Given the description of an element on the screen output the (x, y) to click on. 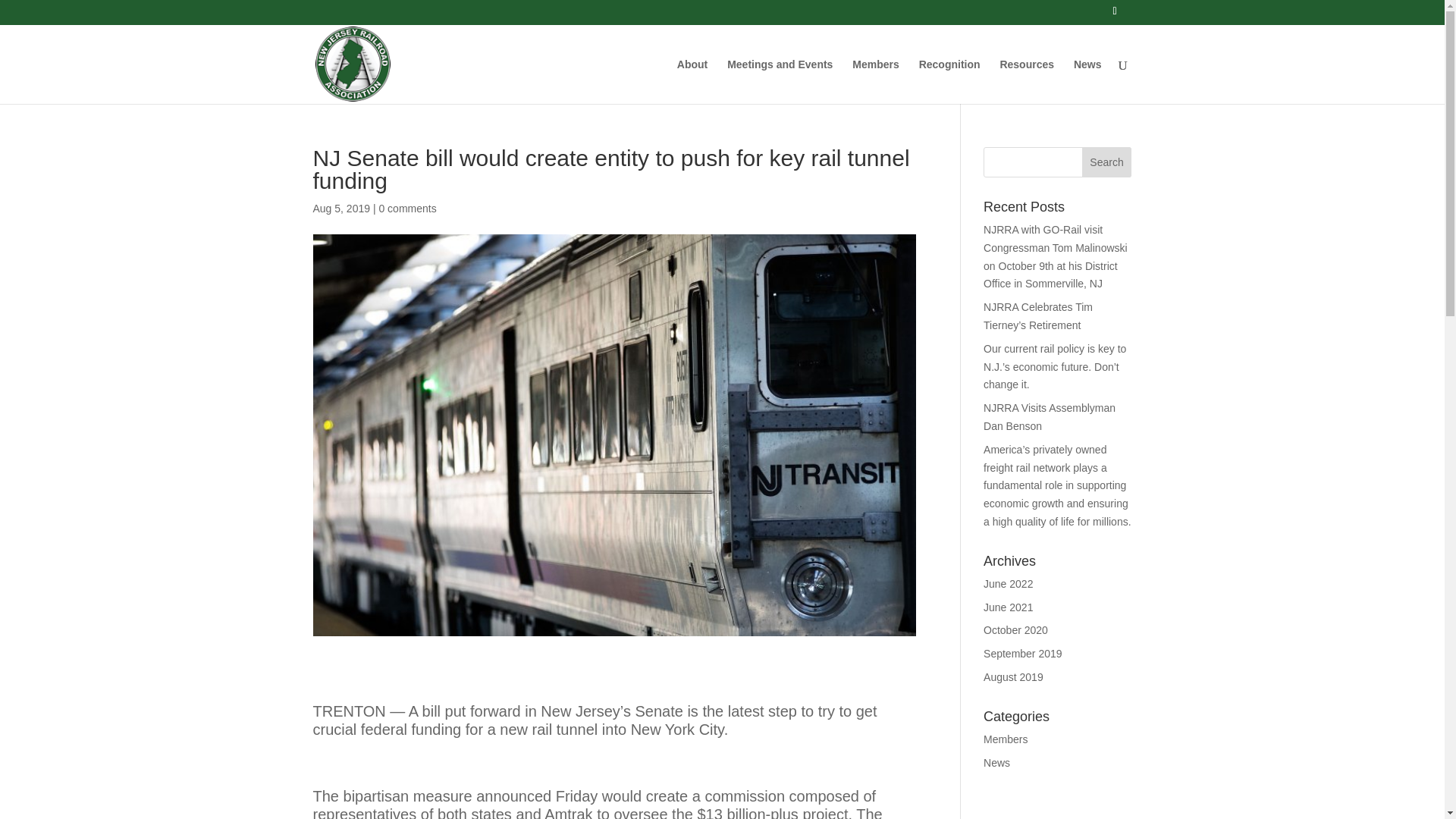
Members (1005, 739)
June 2022 (1008, 583)
June 2021 (1008, 607)
Recognition (948, 81)
August 2019 (1013, 676)
0 comments (406, 208)
Meetings and Events (779, 81)
News (997, 762)
October 2020 (1016, 630)
Resources (1026, 81)
Members (874, 81)
Search (1106, 162)
Search (1106, 162)
NJRRA Visits Assemblyman Dan Benson (1049, 417)
